Given the description of an element on the screen output the (x, y) to click on. 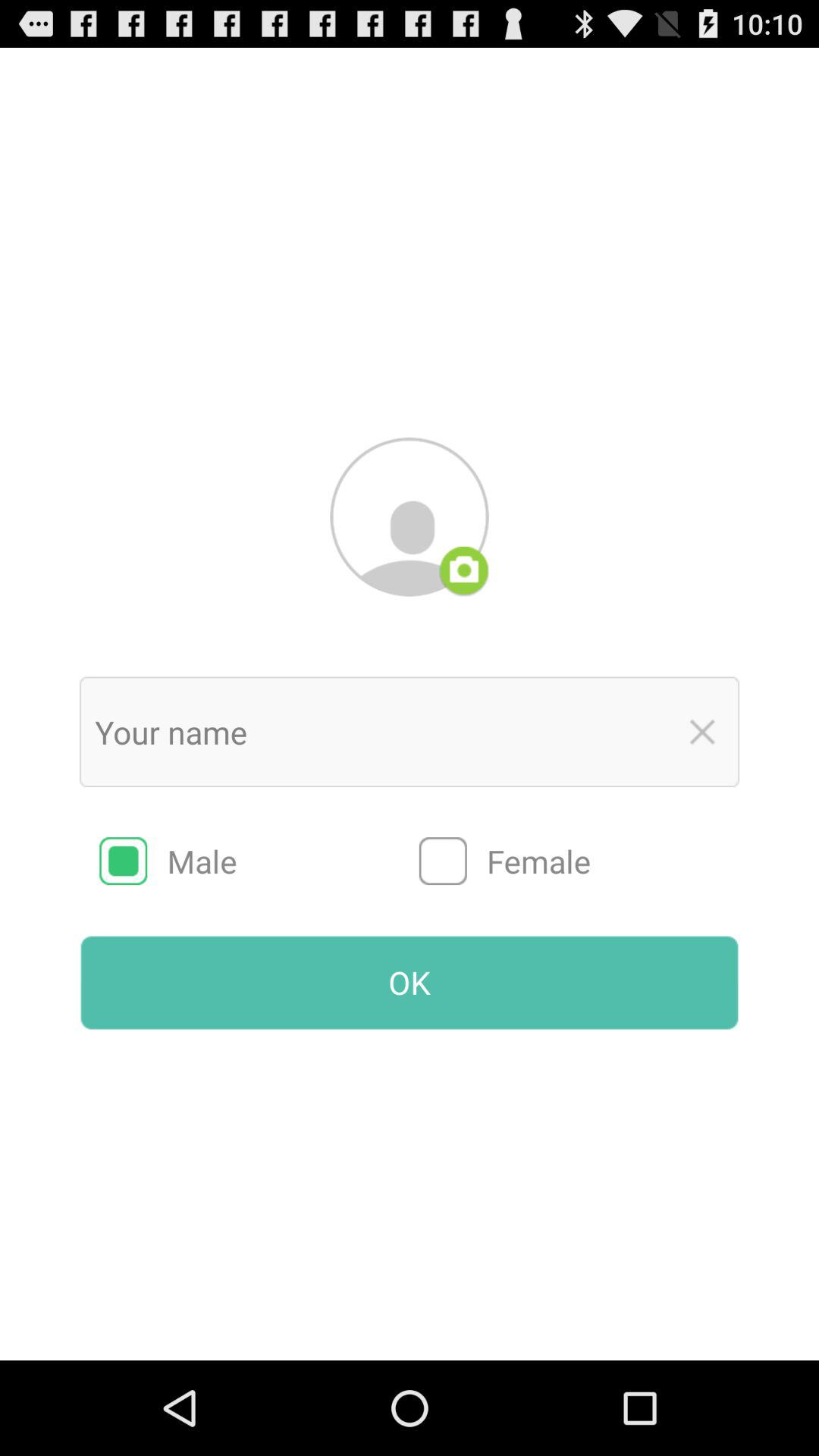
see profile photo (409, 516)
